Given the description of an element on the screen output the (x, y) to click on. 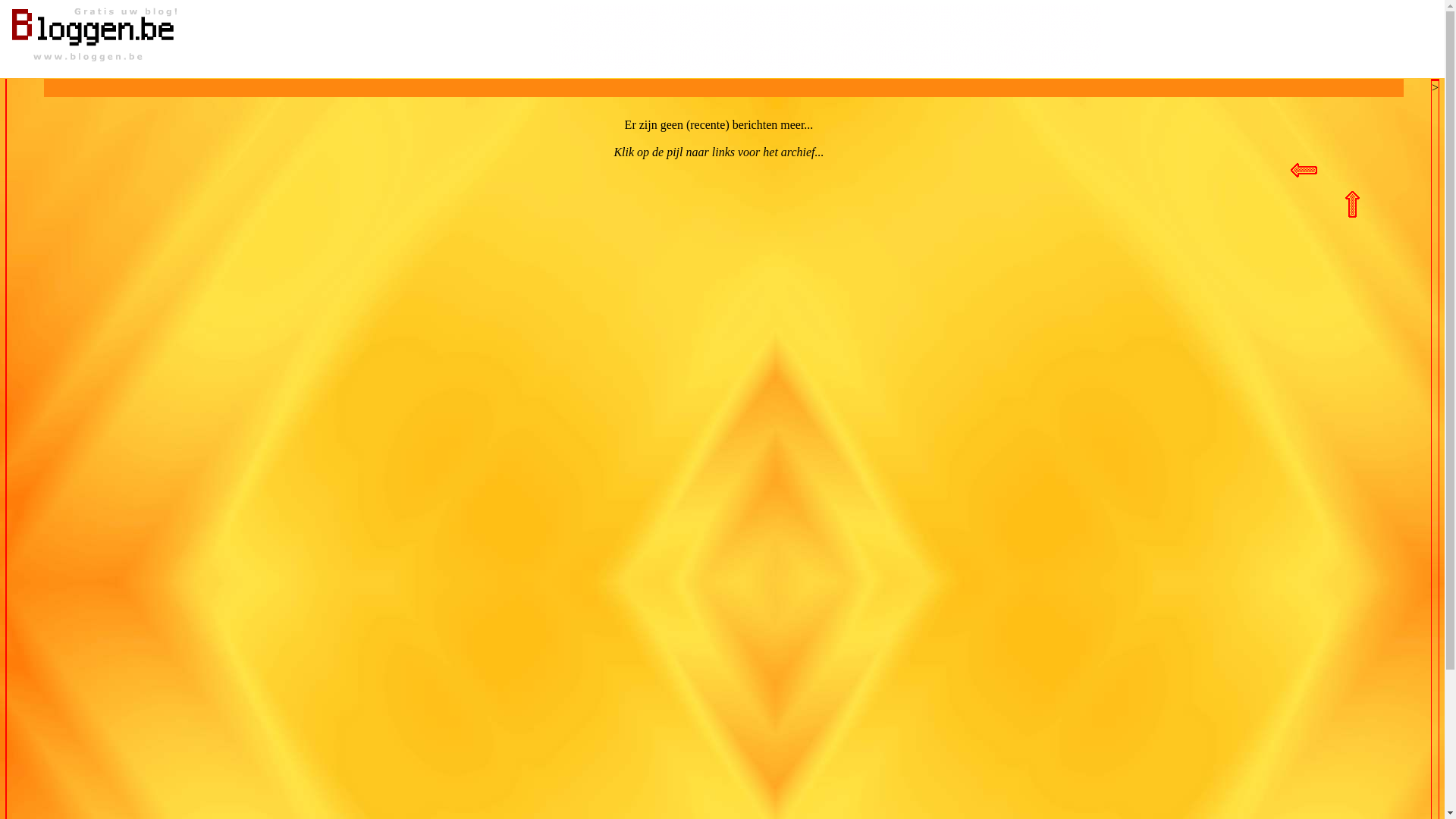
3rd party ad content Element type: hover (825, 37)
